Given the description of an element on the screen output the (x, y) to click on. 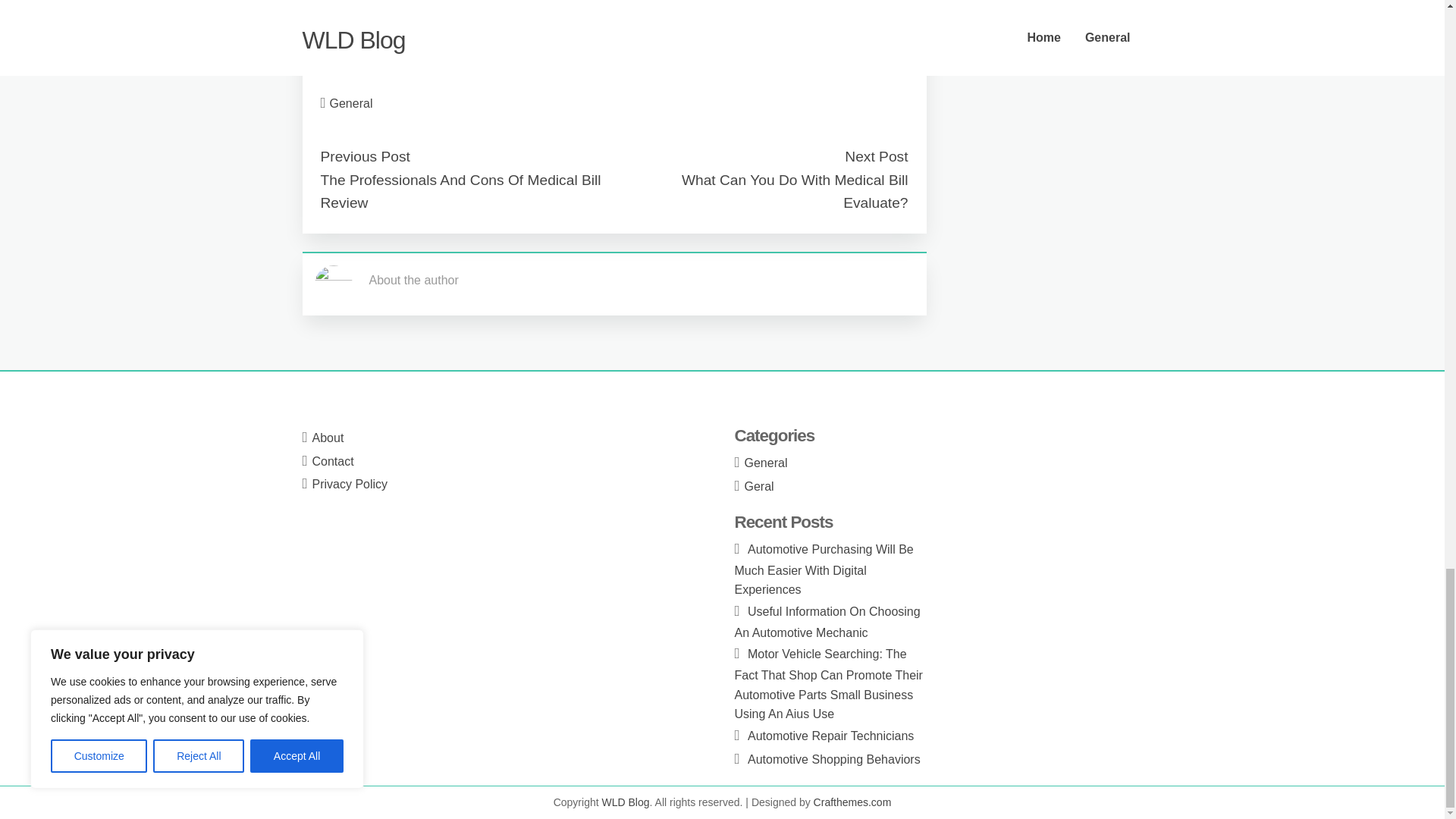
What Can You Do With Medical Bill Evaluate? (794, 191)
Privacy Policy (350, 483)
Contact (333, 461)
General (351, 103)
The Professionals And Cons Of Medical Bill Review (459, 191)
What Are Medical Invoice Opinions? (607, 9)
General (765, 462)
About (328, 437)
Next Post (875, 156)
Previous Post (364, 156)
